Given the description of an element on the screen output the (x, y) to click on. 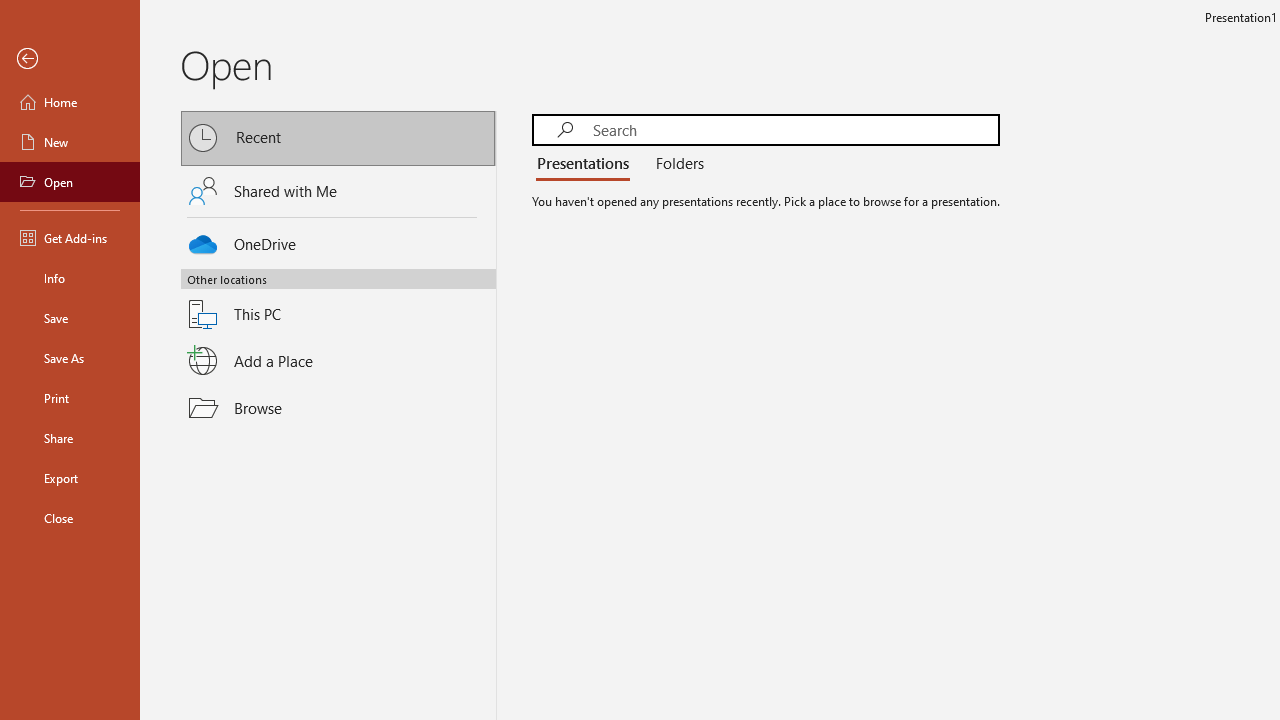
Print (69, 398)
New (69, 141)
Export (69, 477)
Shared with Me (338, 191)
This PC (338, 302)
